Given the description of an element on the screen output the (x, y) to click on. 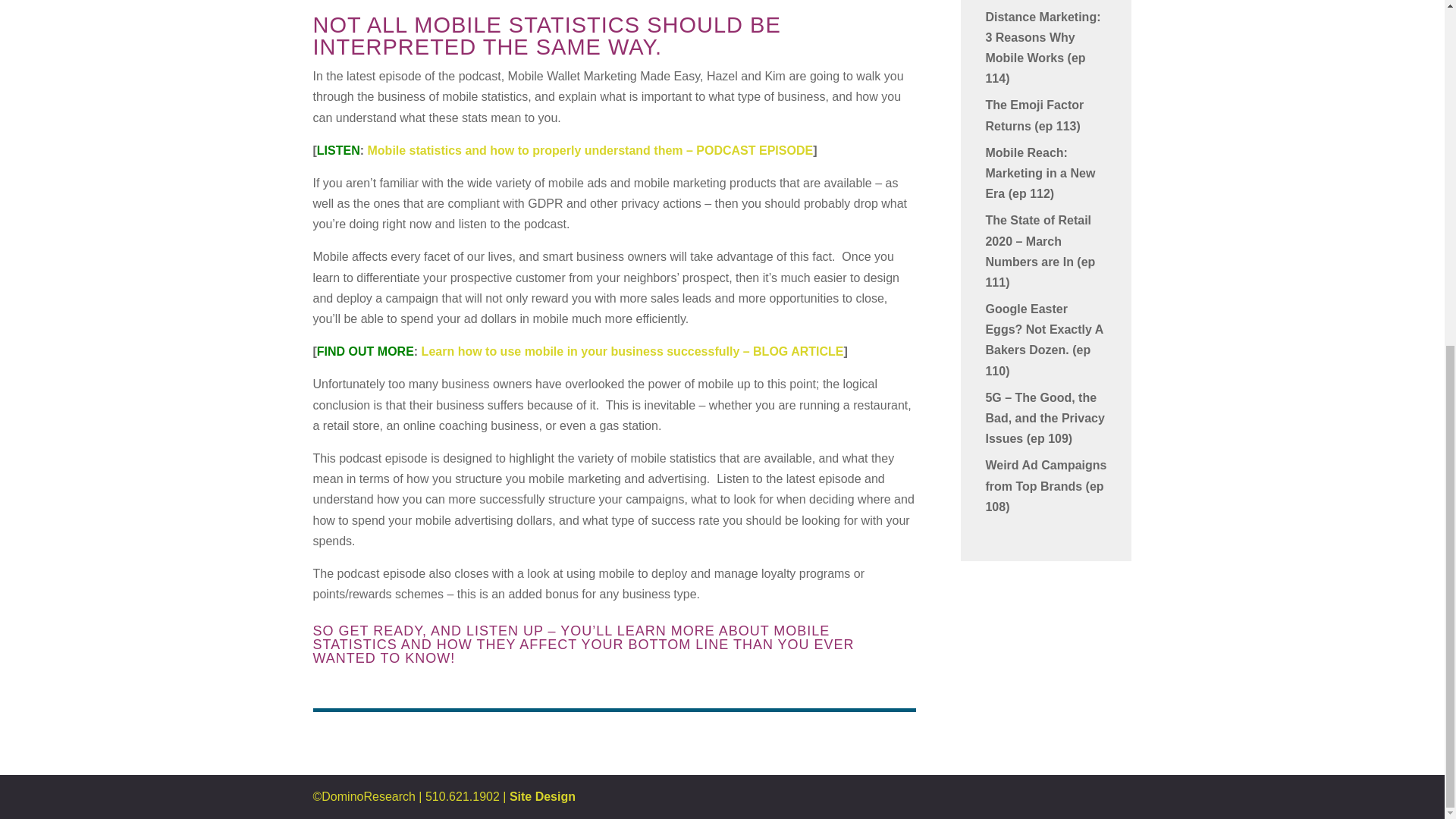
Site Design (542, 796)
